Given the description of an element on the screen output the (x, y) to click on. 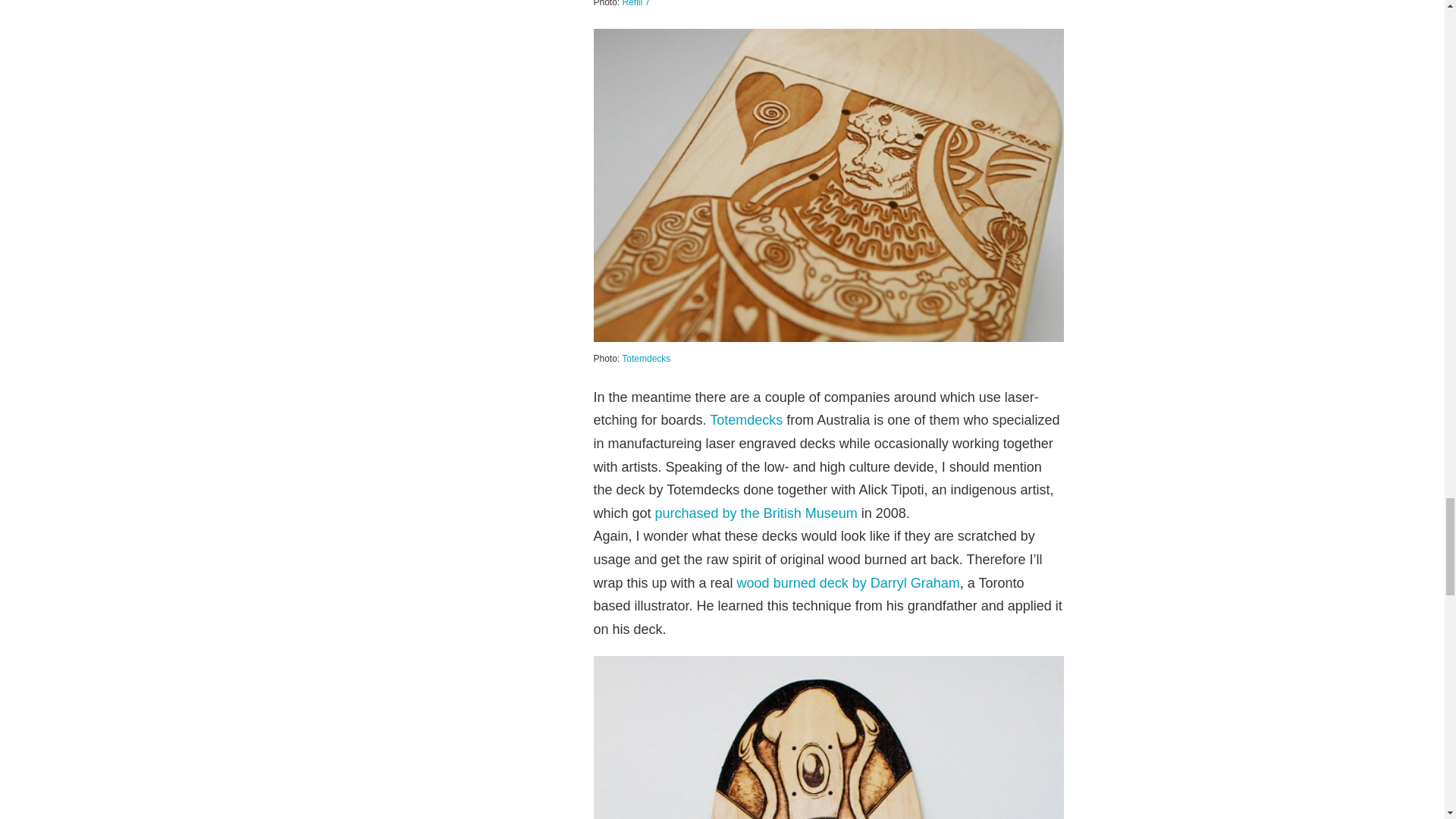
Totemdecks (645, 357)
Refill 7 (636, 3)
Totemdecks (746, 419)
wood burned deck by Darryl Graham (847, 582)
purchased by the British Museum (756, 513)
